Given the description of an element on the screen output the (x, y) to click on. 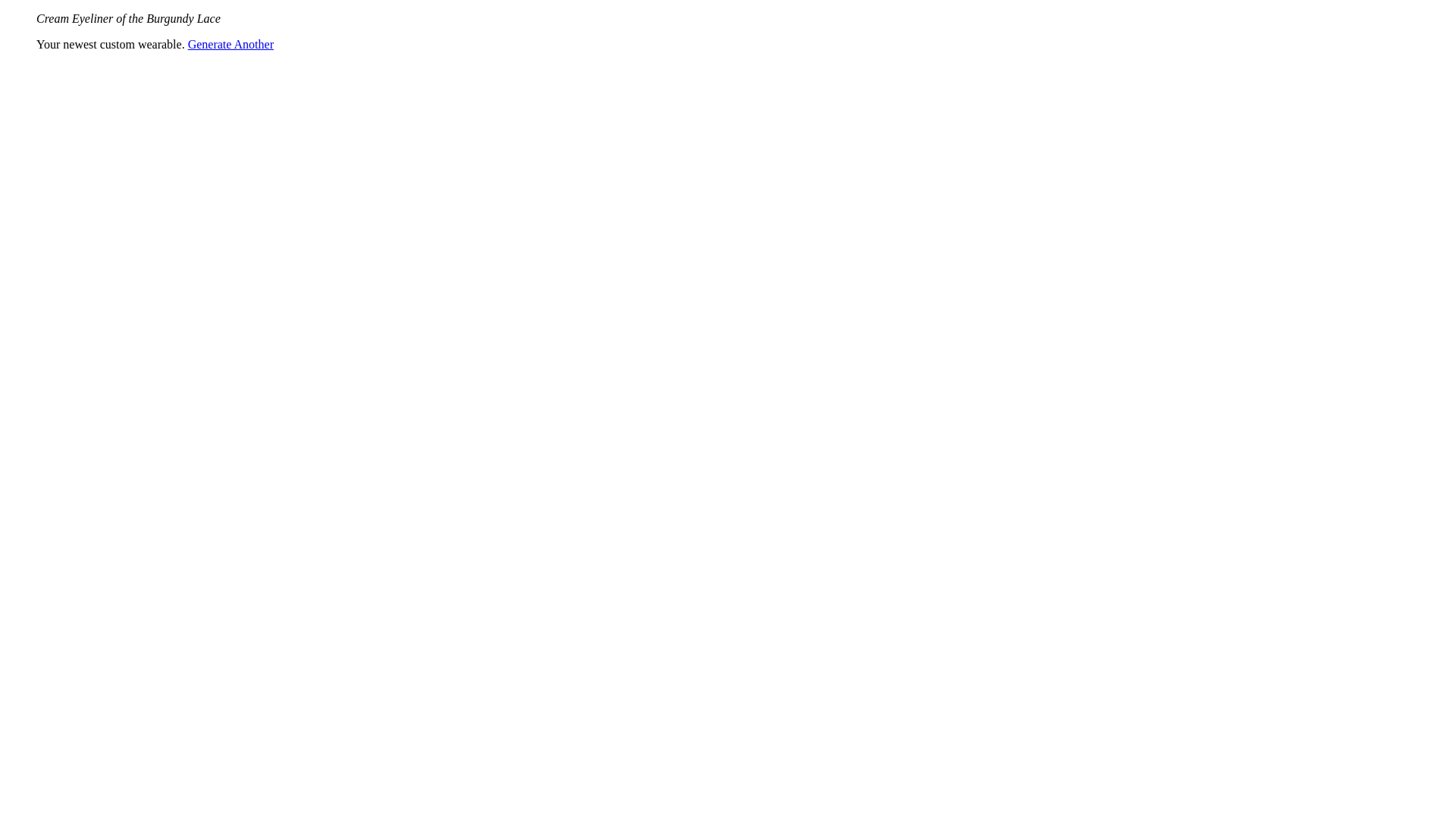
Generate Another Element type: text (230, 43)
